Given the description of an element on the screen output the (x, y) to click on. 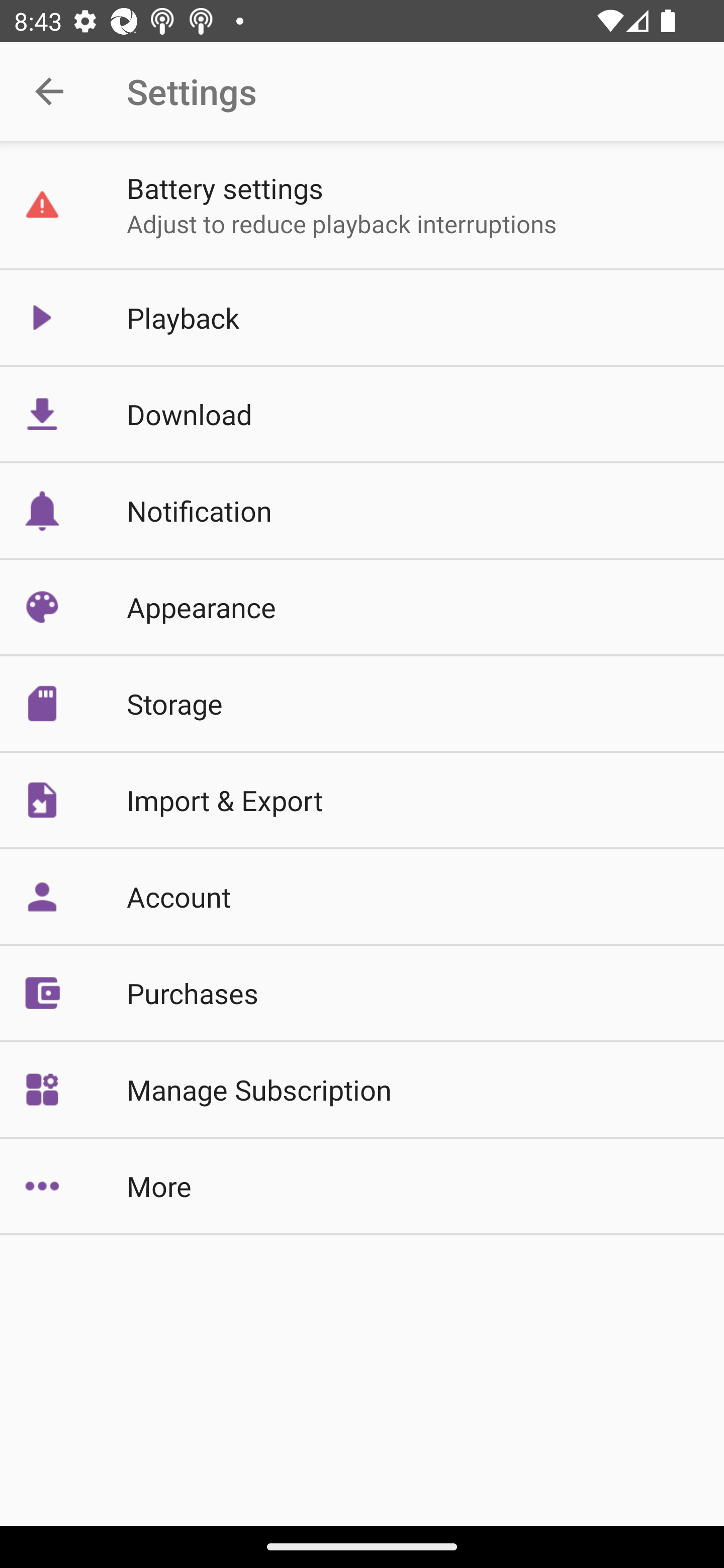
Navigate up (49, 91)
Playback (362, 317)
Download (362, 413)
Notification (362, 511)
Appearance (362, 606)
Storage (362, 703)
Import & Export (362, 799)
Account (362, 896)
Purchases (362, 992)
Manage Subscription (362, 1089)
More (362, 1186)
